Given the description of an element on the screen output the (x, y) to click on. 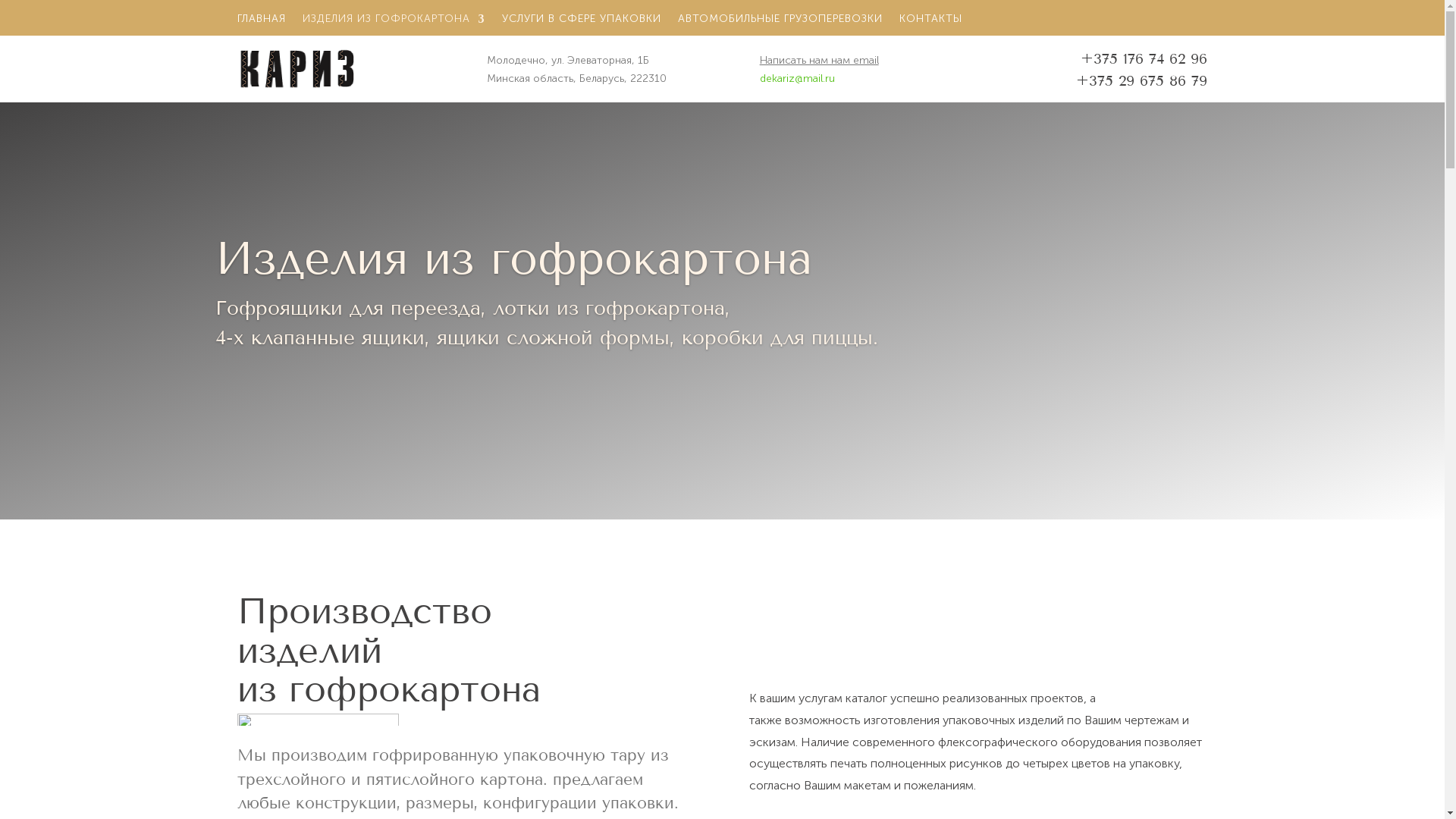
pl Element type: hover (317, 719)
dekariz@mail.ru Element type: text (796, 78)
+375 29 675 86 79 Element type: text (1141, 79)
+375 176 74 62 96 Element type: text (1143, 58)
1 Element type: text (300, 371)
logo-22 Element type: hover (295, 68)
